Given the description of an element on the screen output the (x, y) to click on. 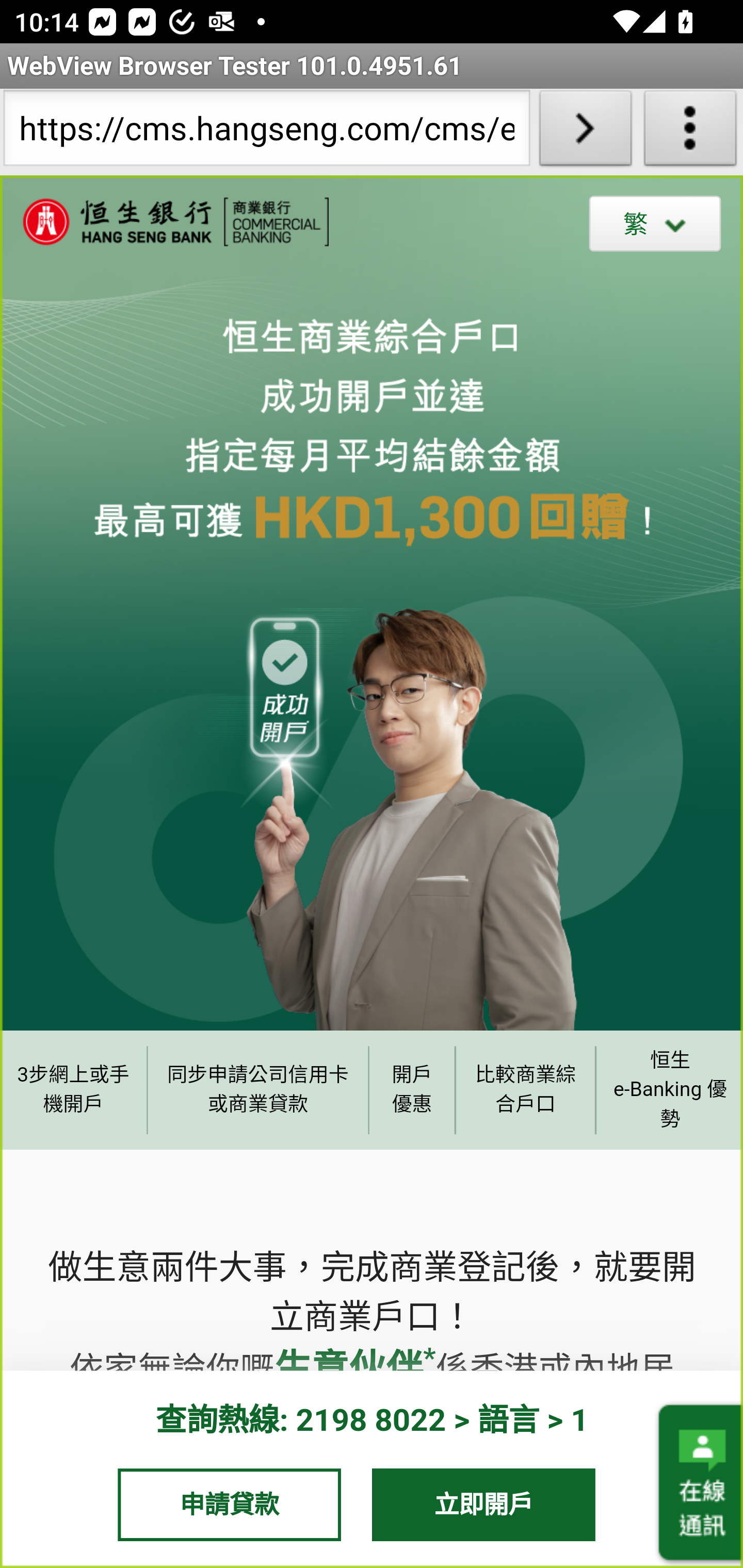
Load URL (585, 132)
About WebView (690, 132)
home (164, 222)
繁  繁    (655, 223)
恒生e‑Banking 優勢 (669, 1089)
3步網上或手機開戶 (73, 1089)
同步申請公司信用卡或商業貸款 (257, 1089)
開戶優惠 (411, 1089)
比較商業綜合戶口 (525, 1089)
在線通訊 (698, 1483)
申請貸款 (229, 1504)
立即開戶 (484, 1504)
